Given the description of an element on the screen output the (x, y) to click on. 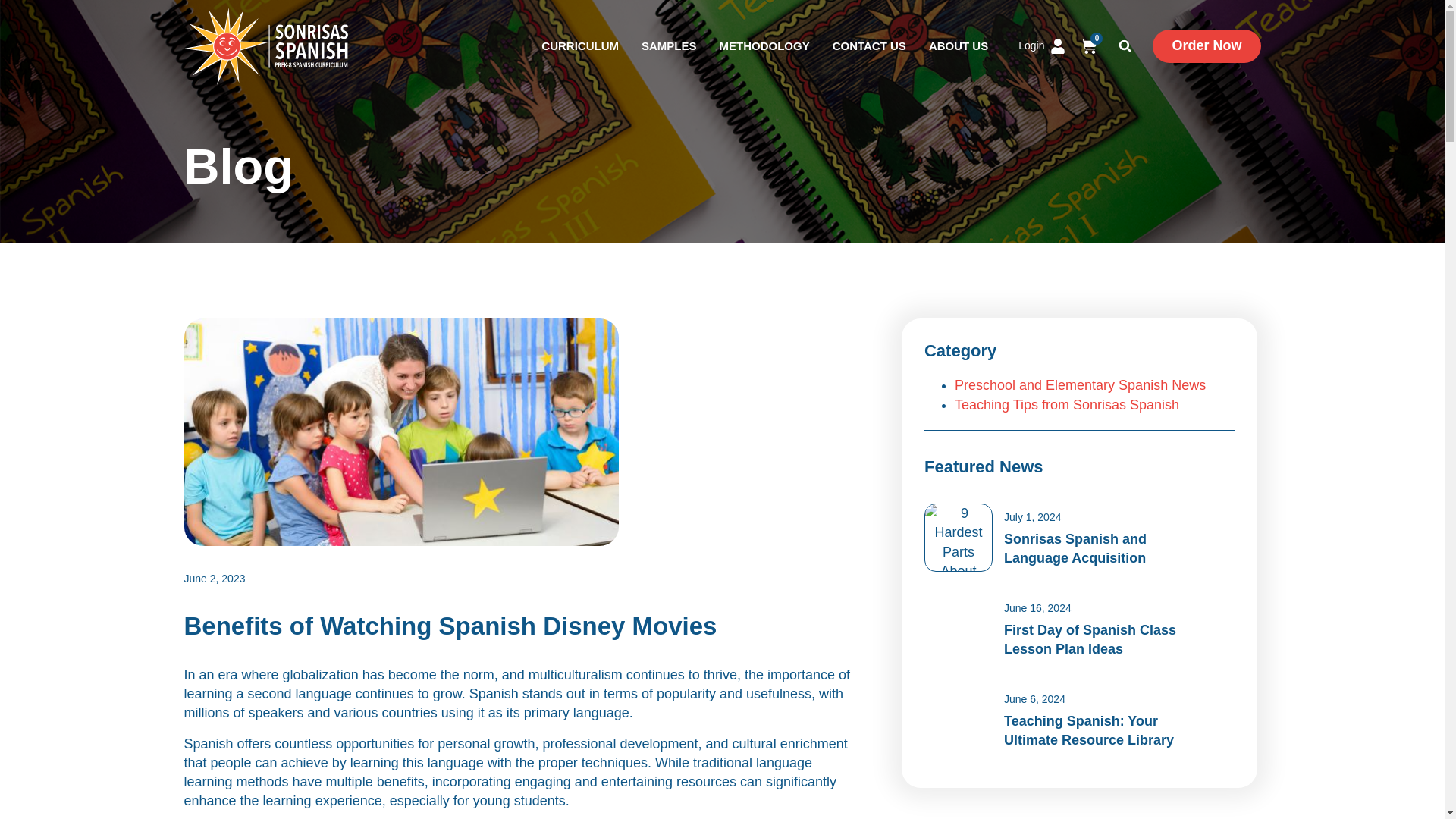
CURRICULUM (579, 45)
First Day of Spanish Class Lesson Plan Ideas (1090, 639)
CONTACT US (868, 45)
0 (1088, 45)
ABOUT US (958, 45)
Sonrisas Spanish and Language Acquisition (1075, 548)
Teaching Tips from Sonrisas Spanish (1067, 404)
SAMPLES (669, 45)
Preschool and Elementary Spanish News (1080, 385)
Teaching Spanish: Your Ultimate Resource Library (1088, 730)
